Given the description of an element on the screen output the (x, y) to click on. 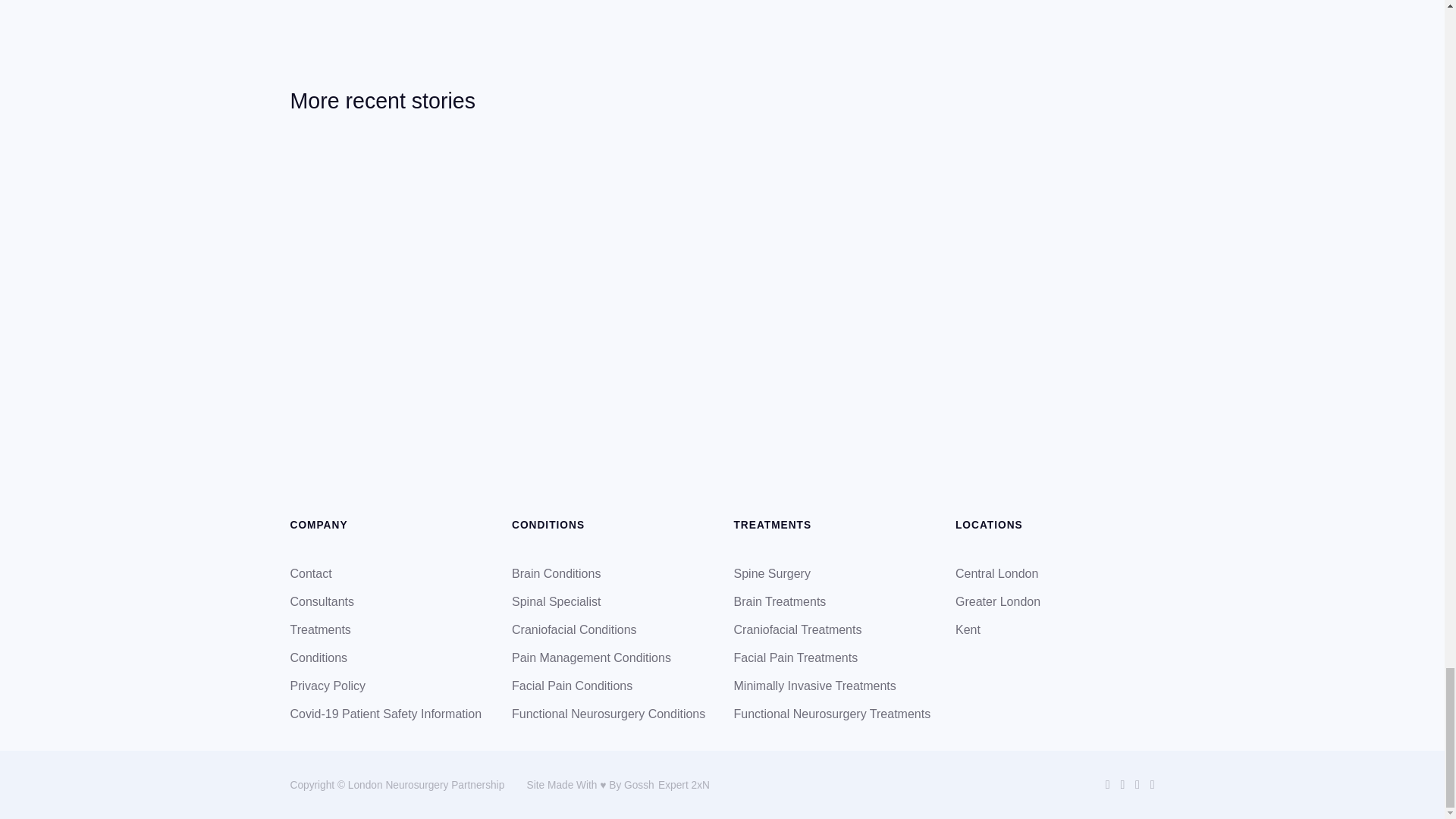
Pain Management Conditions (591, 657)
Spinal Specialist (555, 601)
Brain Conditions (555, 573)
Brain Treatments (780, 601)
Facial Pain Conditions (571, 685)
Functional Neurosurgery Conditions (608, 713)
Covid-19 Patient Safety Information (385, 713)
Conditions (318, 657)
Treatments (319, 629)
Spine Surgery (771, 573)
Craniofacial Treatments (797, 629)
Contact (310, 573)
Privacy Policy (327, 685)
Craniofacial Conditions (574, 629)
Consultants (321, 601)
